Given the description of an element on the screen output the (x, y) to click on. 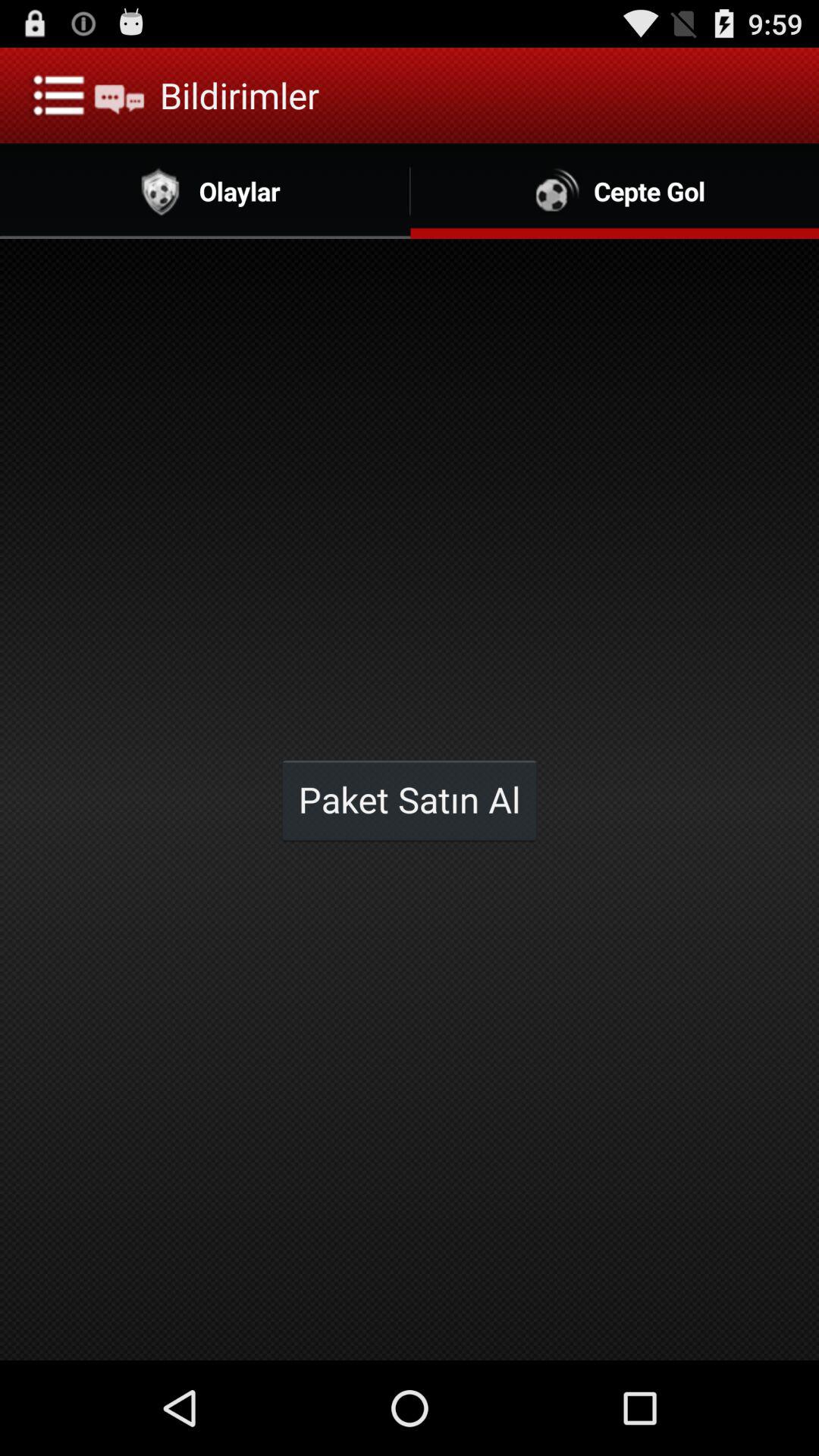
tap the app below the olaylar item (409, 799)
